Given the description of an element on the screen output the (x, y) to click on. 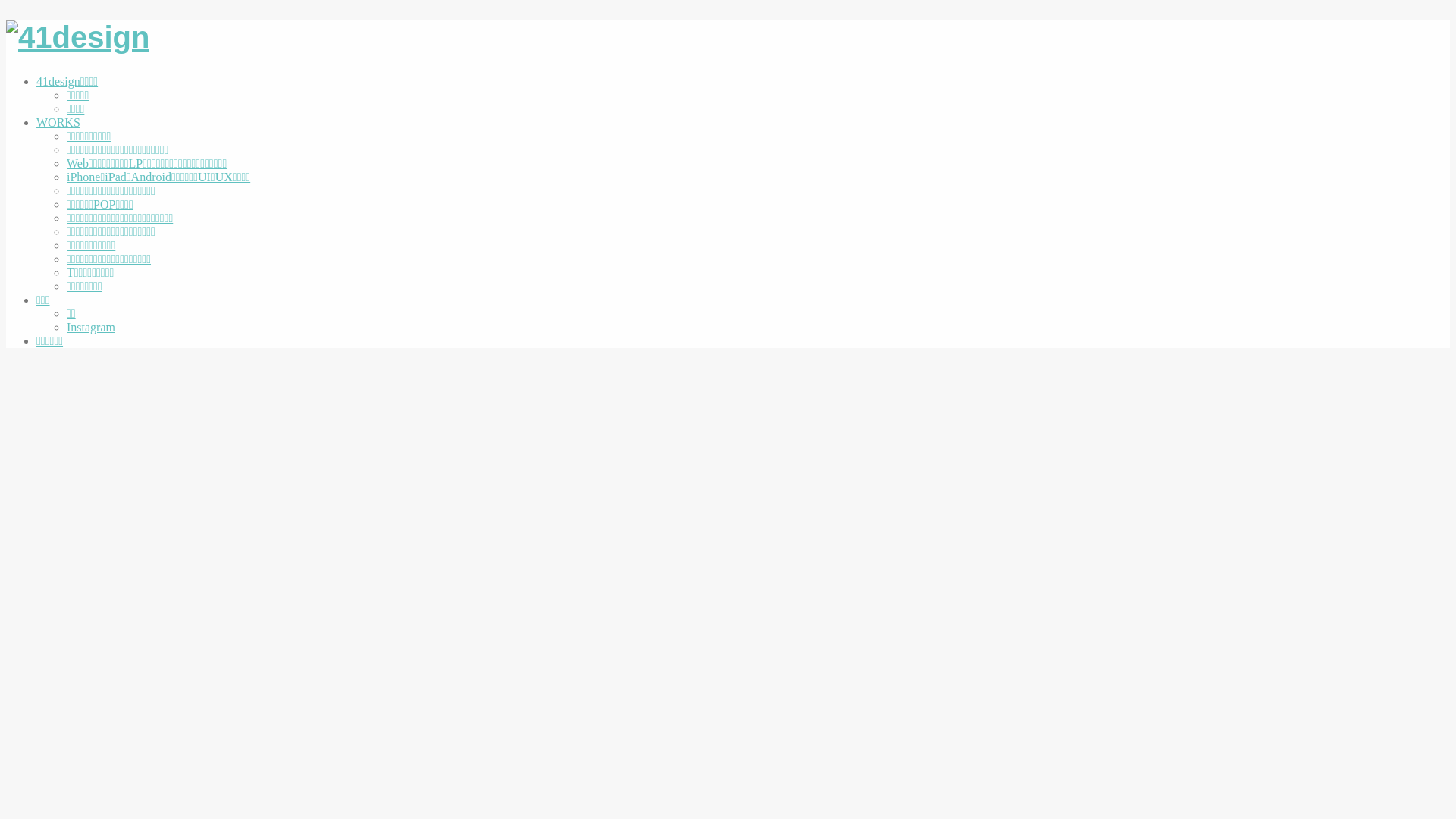
WORKS Element type: text (385, 122)
Instagram Element type: text (400, 327)
